Given the description of an element on the screen output the (x, y) to click on. 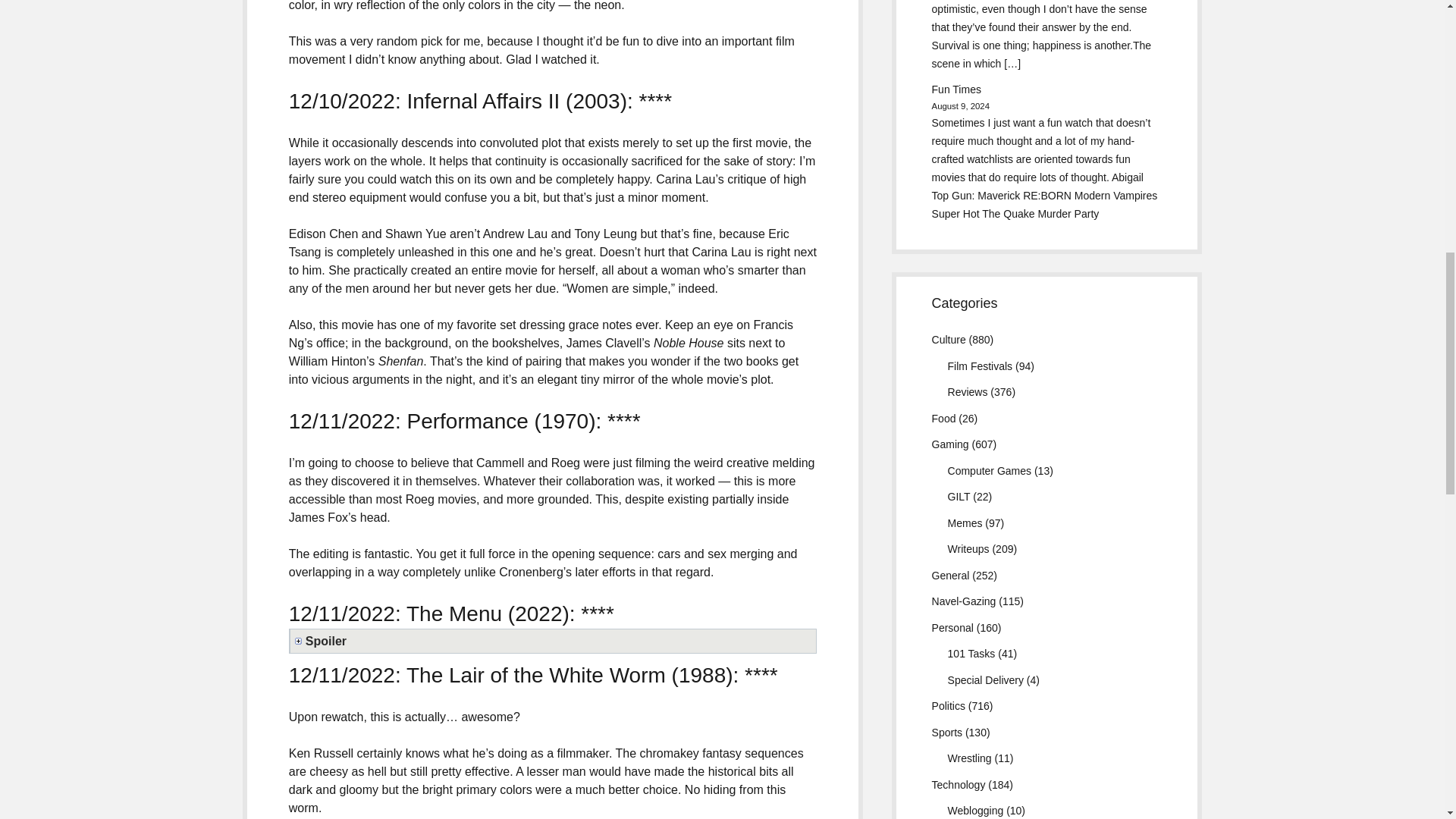
Writeups (968, 548)
Politics (948, 705)
Weblogging (975, 810)
101 Tasks (971, 653)
Navel-Gazing (963, 601)
Special Delivery (985, 680)
Sports (946, 732)
Film Festivals (980, 366)
Memes (964, 522)
Expand (555, 640)
